Given the description of an element on the screen output the (x, y) to click on. 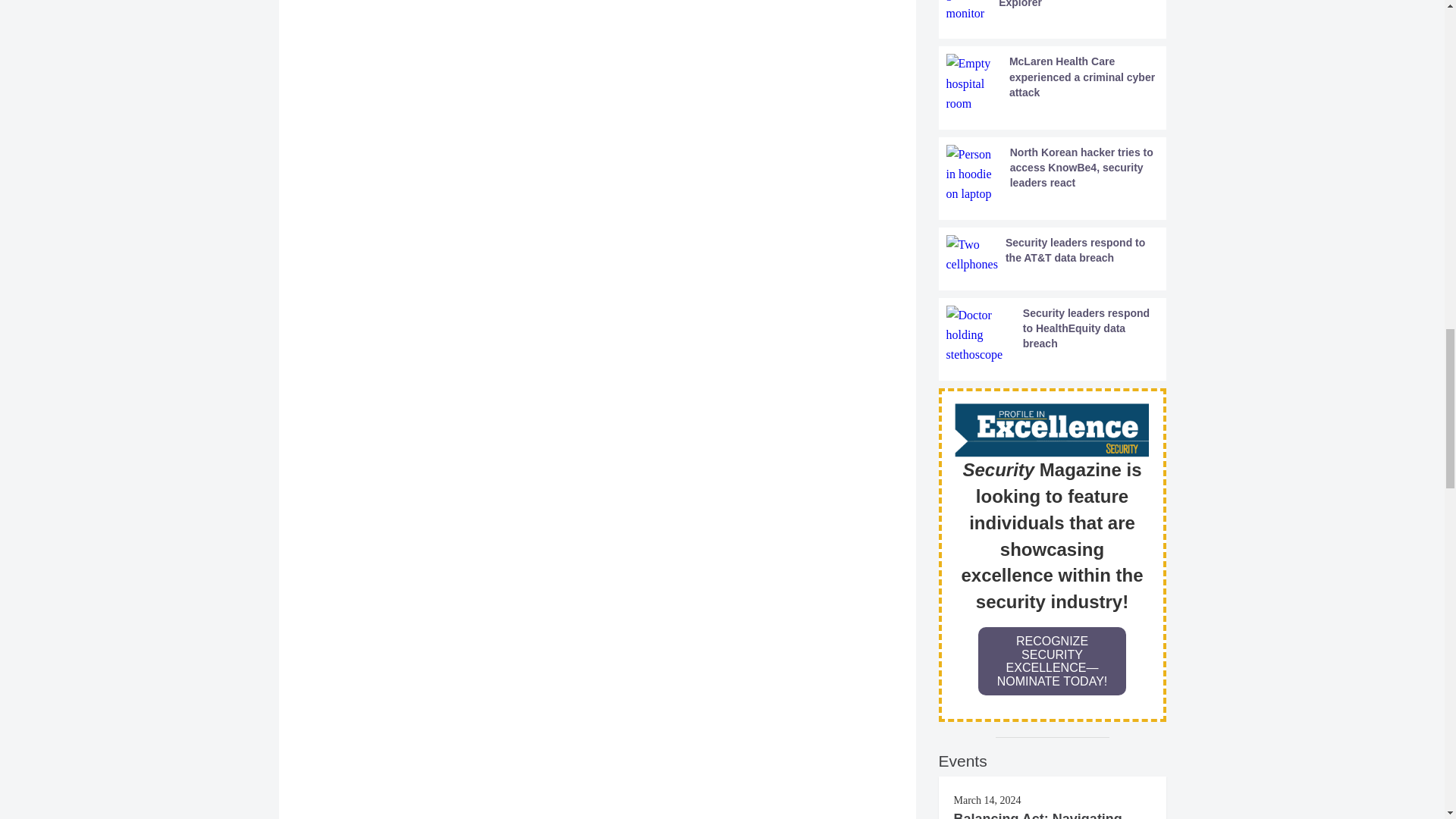
McLaren Health Care experienced a criminal cyber attack (1052, 83)
Security leaders respond to HealthEquity data breach (1052, 335)
